Given the description of an element on the screen output the (x, y) to click on. 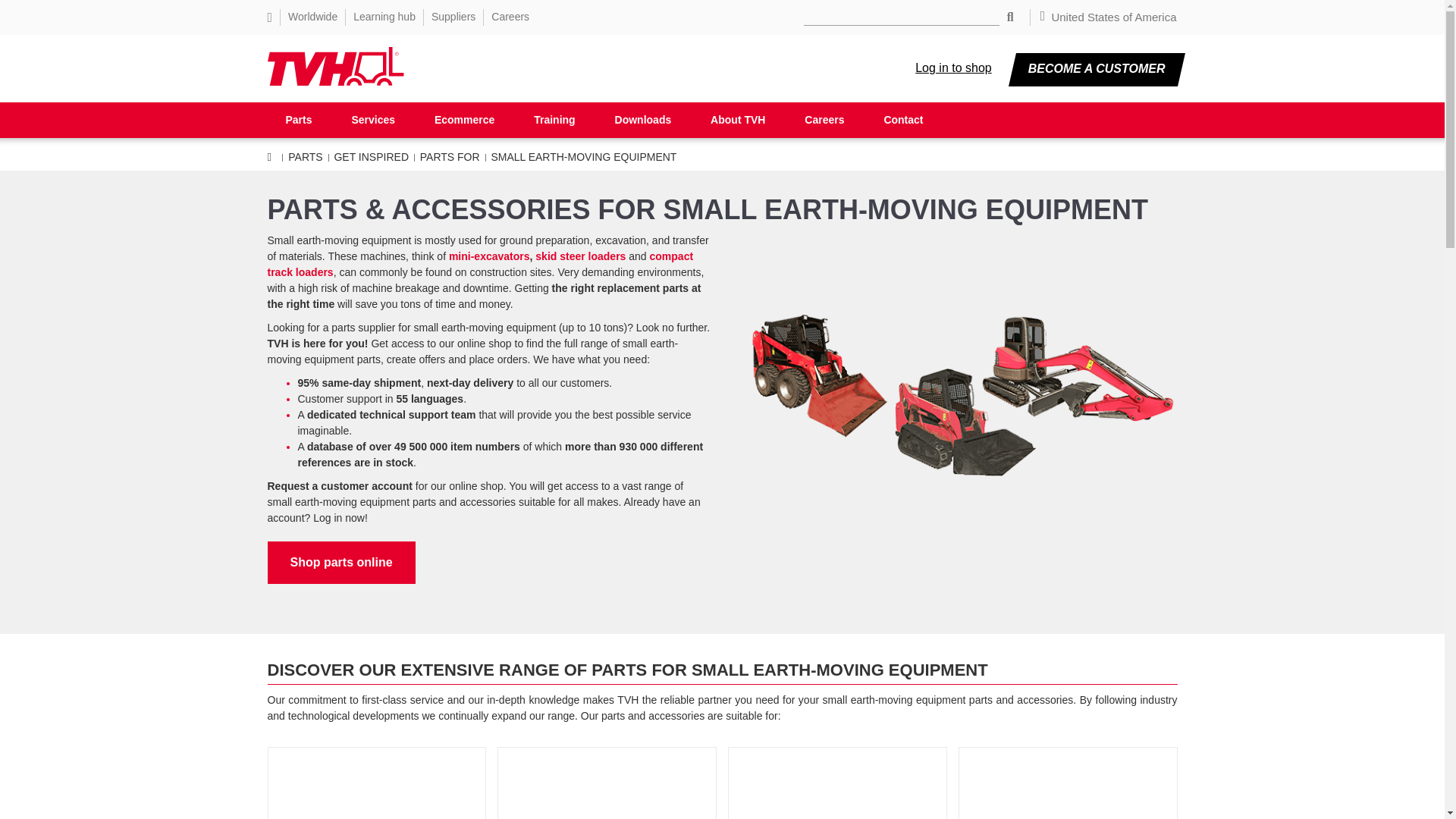
Home (334, 81)
BECOME A CUSTOMER (1096, 69)
Log in to shop (953, 69)
Parts (298, 122)
Learning hub (384, 17)
Careers (510, 17)
Suppliers (453, 17)
Compact track loaders (479, 264)
Mini-excavators (488, 256)
Skid steer loaders (580, 256)
